Given the description of an element on the screen output the (x, y) to click on. 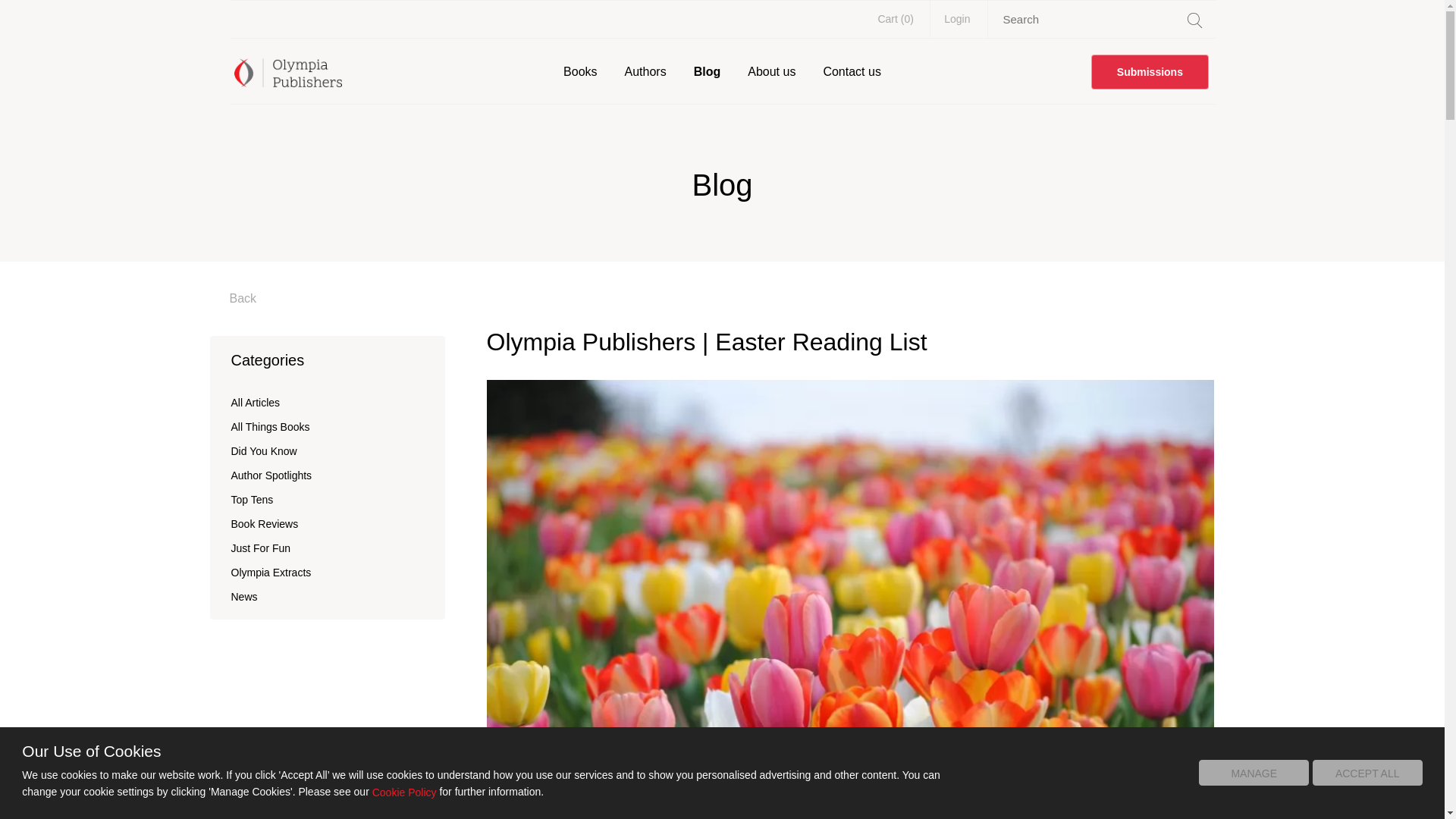
Blog (706, 71)
Authors (645, 71)
Login (957, 18)
About us (770, 71)
Books (580, 71)
Contact us (851, 71)
Submissions (1149, 71)
